Given the description of an element on the screen output the (x, y) to click on. 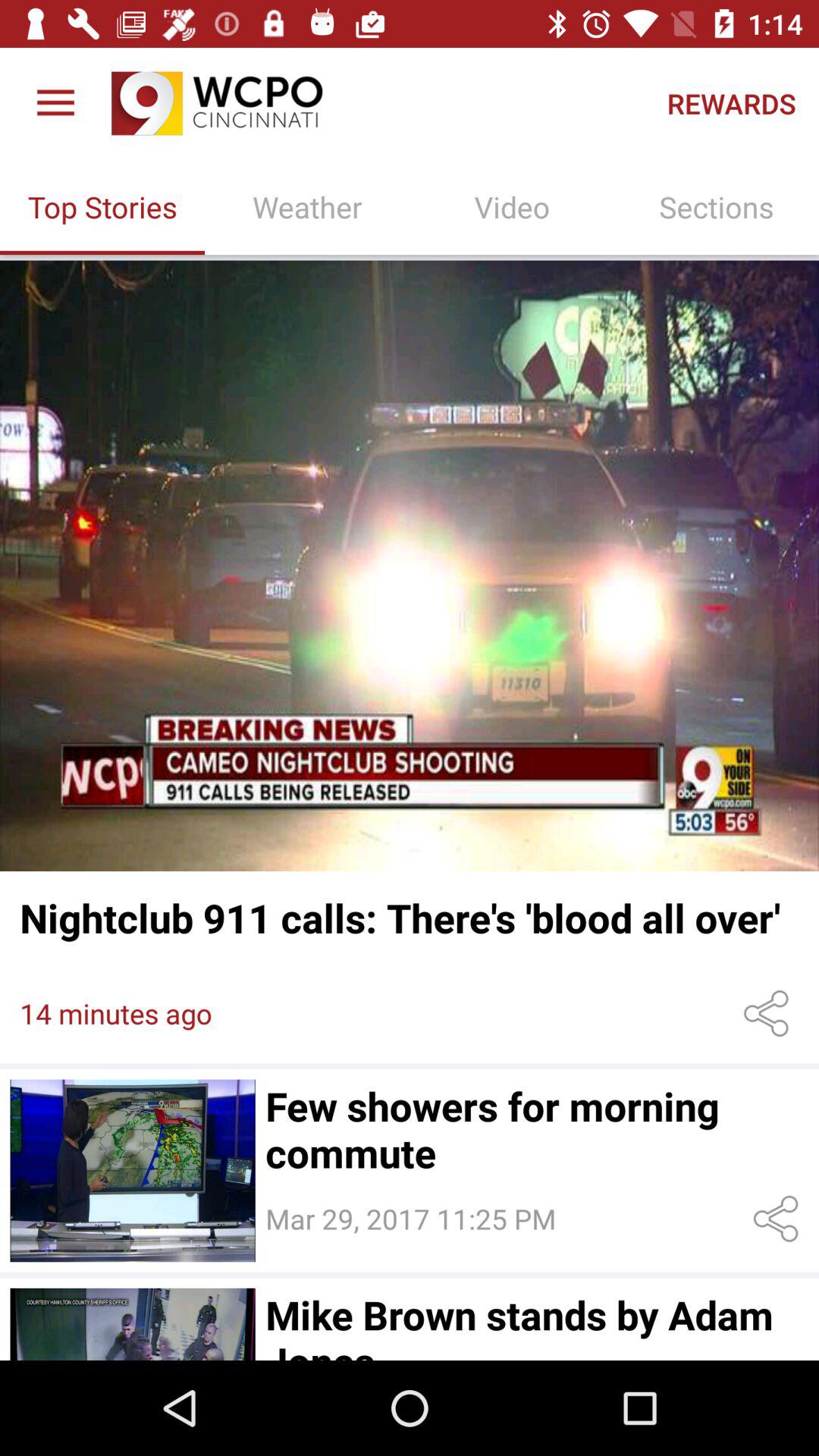
flip until rewards icon (731, 103)
